Given the description of an element on the screen output the (x, y) to click on. 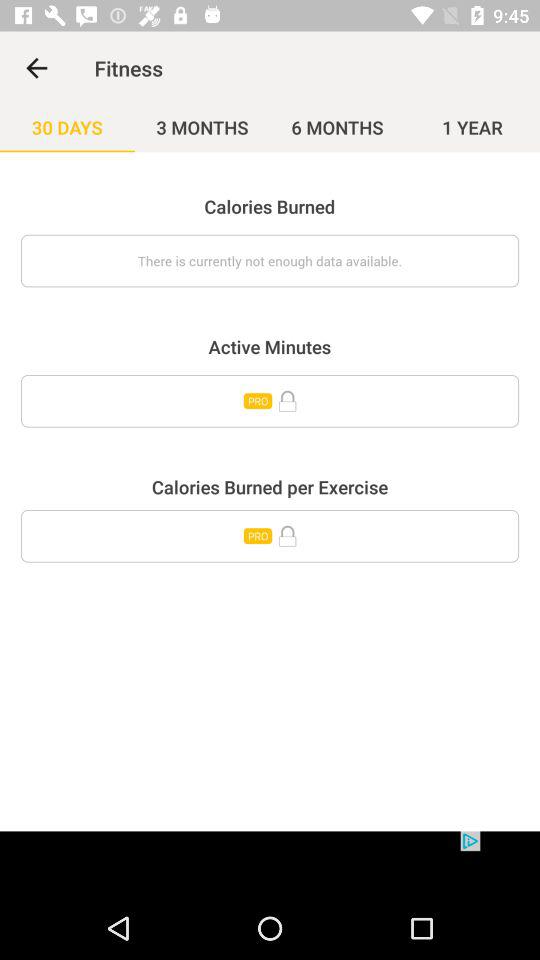
turn off icon below the active minutes item (269, 401)
